Given the description of an element on the screen output the (x, y) to click on. 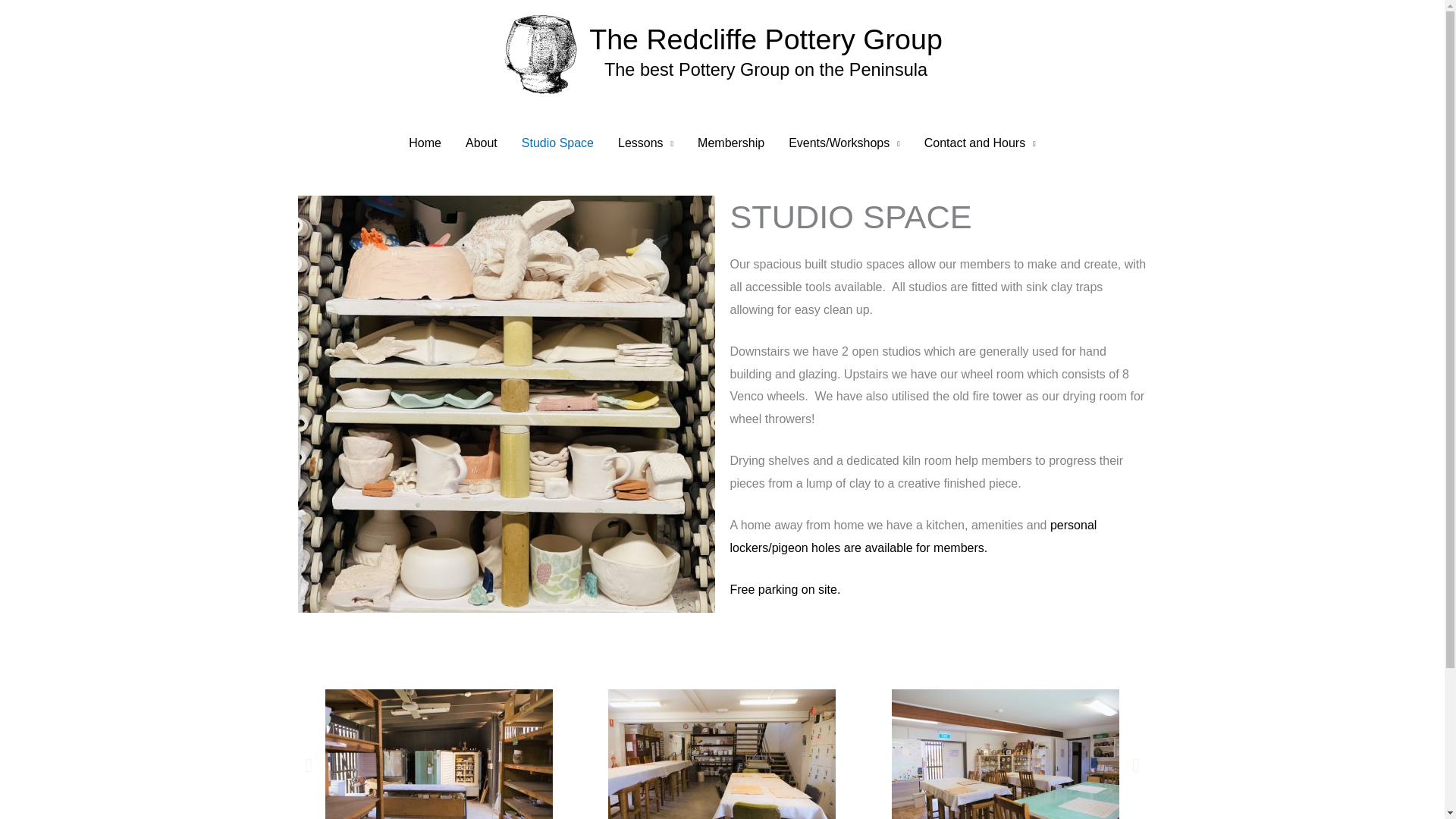
About (480, 142)
Membership (730, 142)
The Redcliffe Pottery Group (765, 39)
Studio Space (557, 142)
Home (424, 142)
Contact and Hours (980, 142)
Lessons (645, 142)
